Given the description of an element on the screen output the (x, y) to click on. 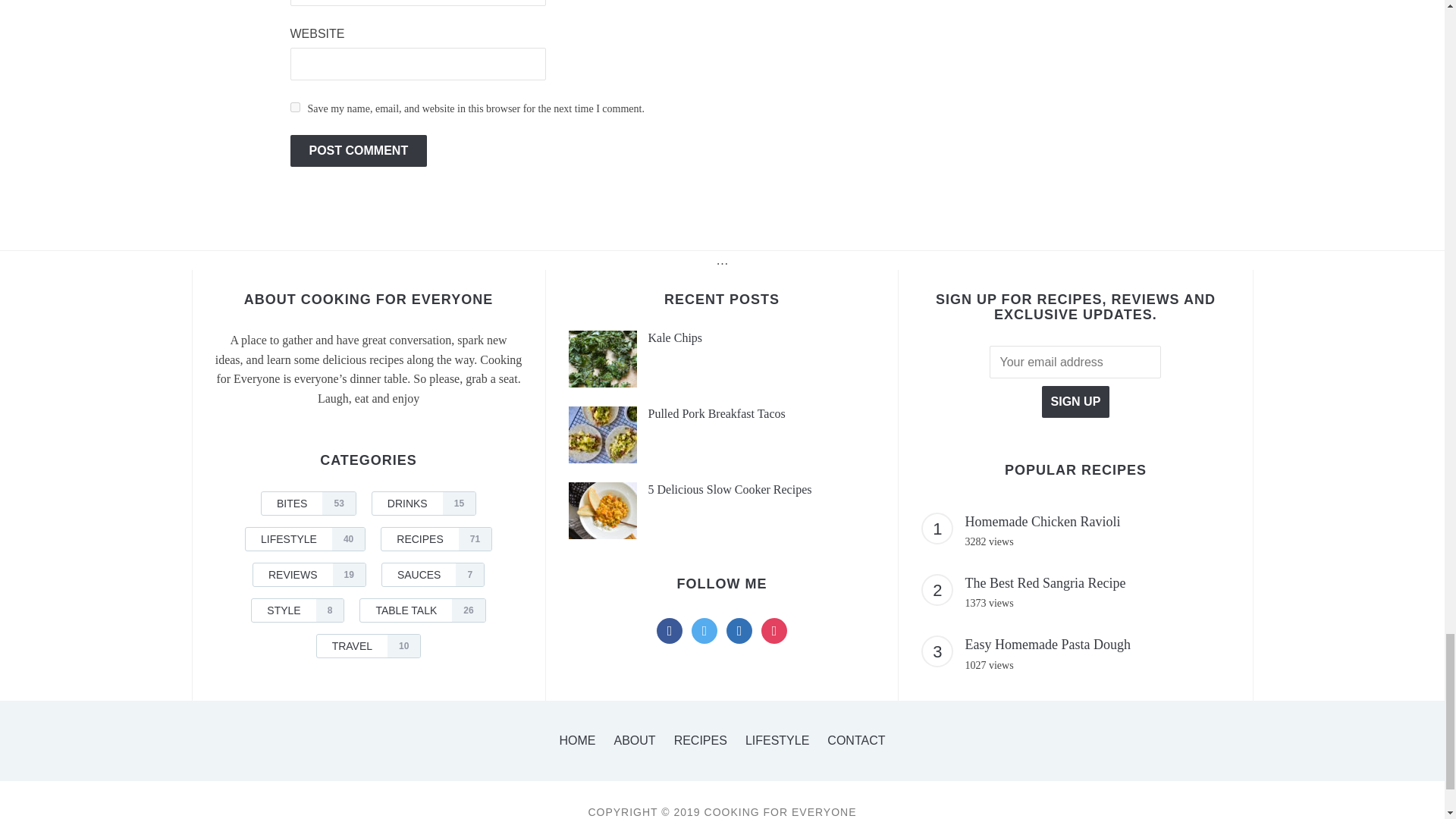
yes (294, 107)
Sign up (1075, 401)
Post Comment (357, 151)
